Given the description of an element on the screen output the (x, y) to click on. 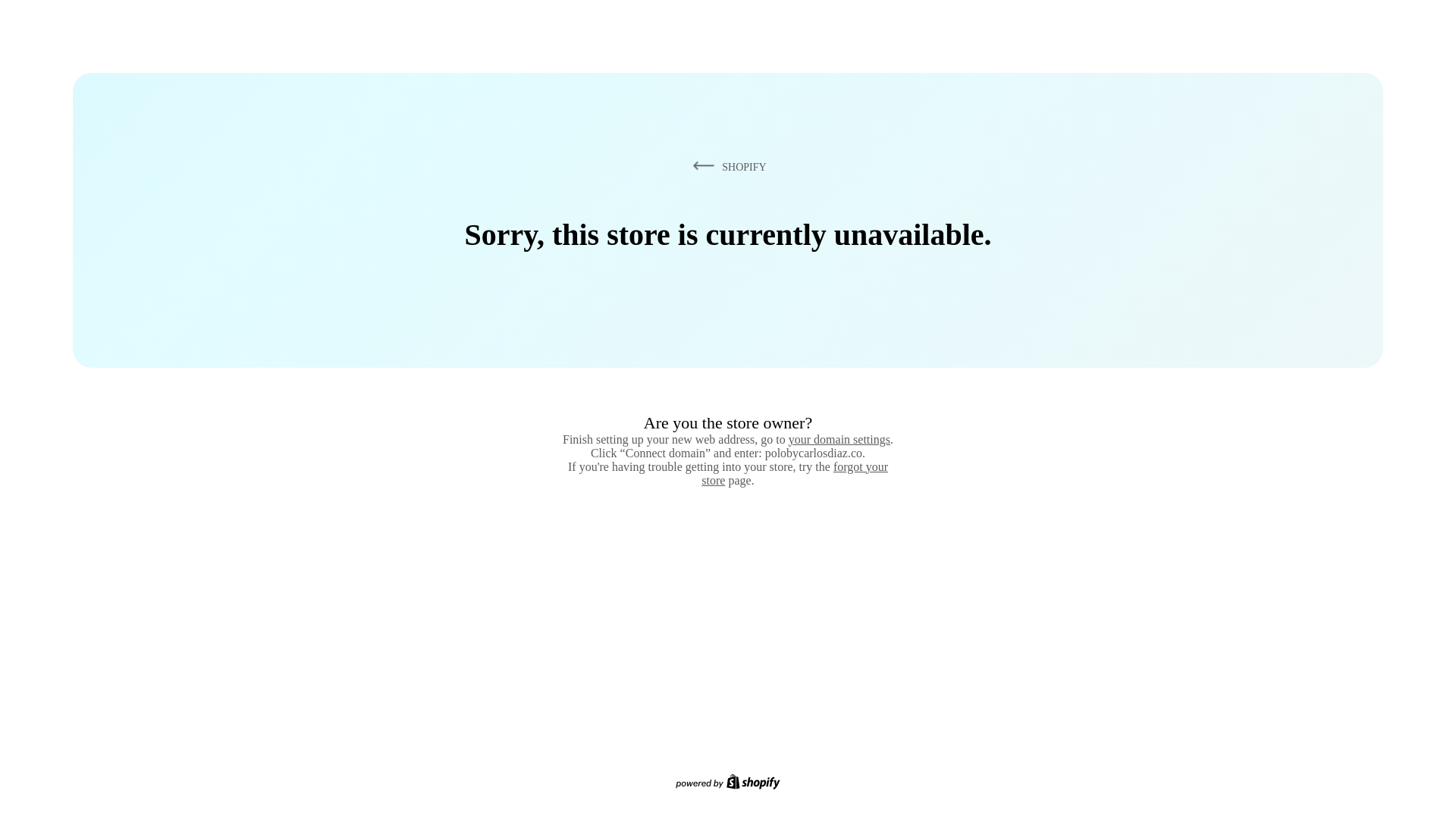
forgot your store (794, 473)
your domain settings (839, 439)
SHOPIFY (726, 166)
